Given the description of an element on the screen output the (x, y) to click on. 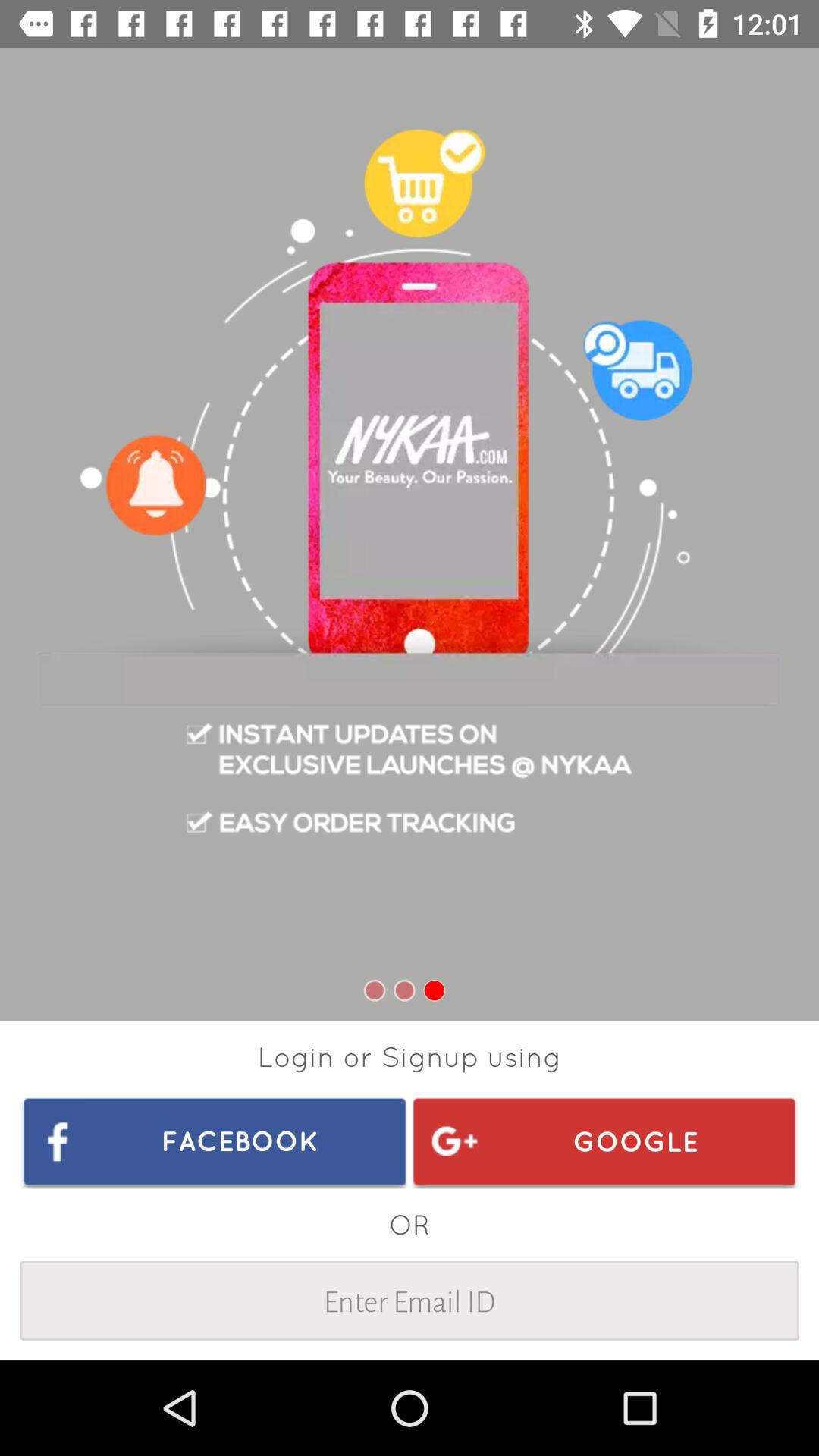
click google icon (604, 1140)
